Given the description of an element on the screen output the (x, y) to click on. 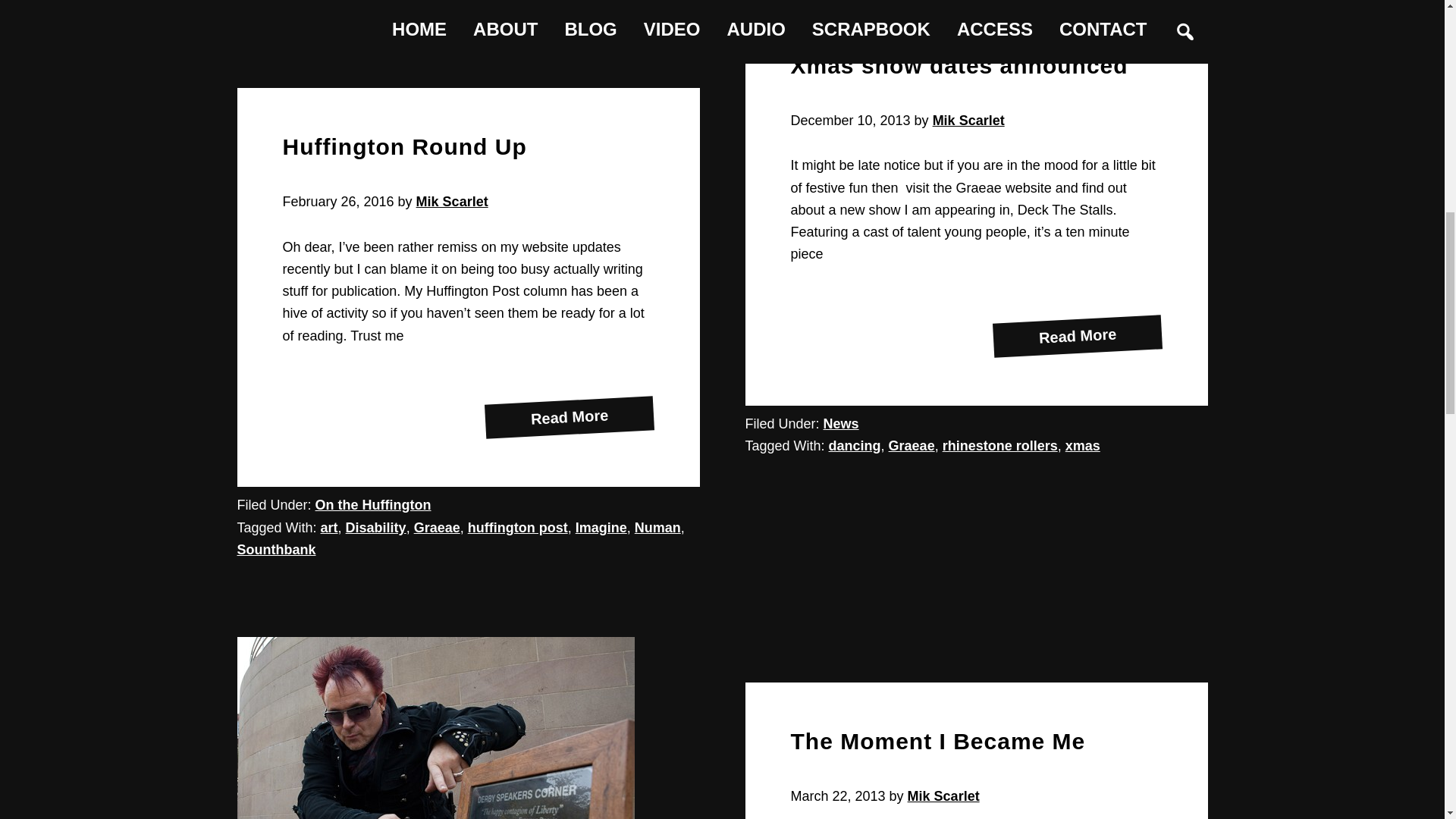
Graeae (436, 527)
Imagine (1076, 331)
News (601, 527)
On the Huffington (841, 423)
Xmas show dates announced (372, 504)
Disability (958, 65)
Huffington Round Up (376, 527)
Mik Scarlet (403, 146)
xmas (451, 201)
Sounthbank (1082, 445)
rhinestone rollers (568, 412)
Graeae (275, 549)
Mik Scarlet (1000, 445)
